Given the description of an element on the screen output the (x, y) to click on. 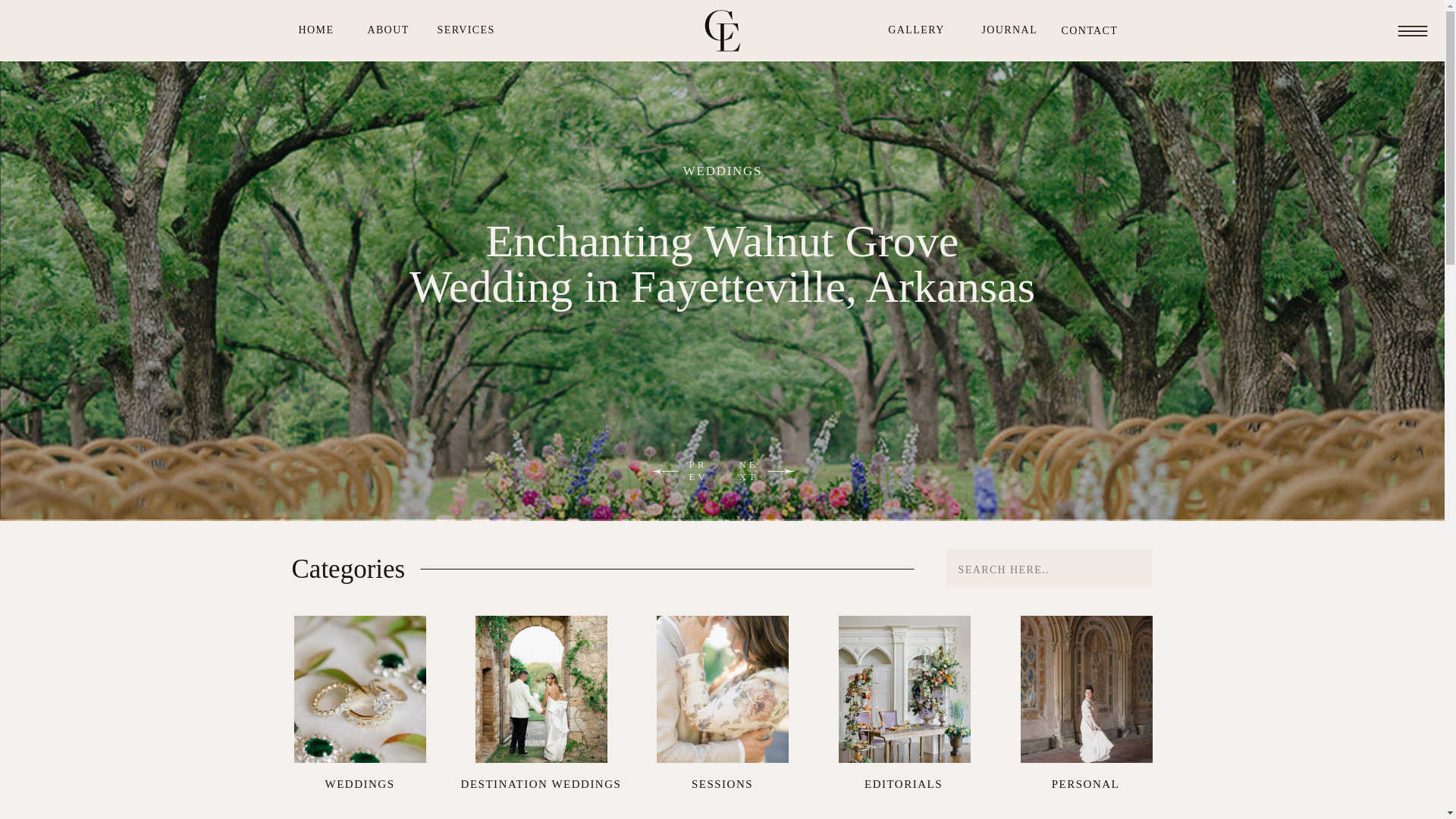
HOME (316, 30)
CONTACT (1087, 30)
SERVICES (464, 30)
GALLERY (915, 30)
JOURNAL (1003, 30)
WEDDINGS (721, 170)
ABOUT (388, 30)
Enchanting Walnut Grove Wedding in Fayetteville, Arkansas (722, 264)
